Given the description of an element on the screen output the (x, y) to click on. 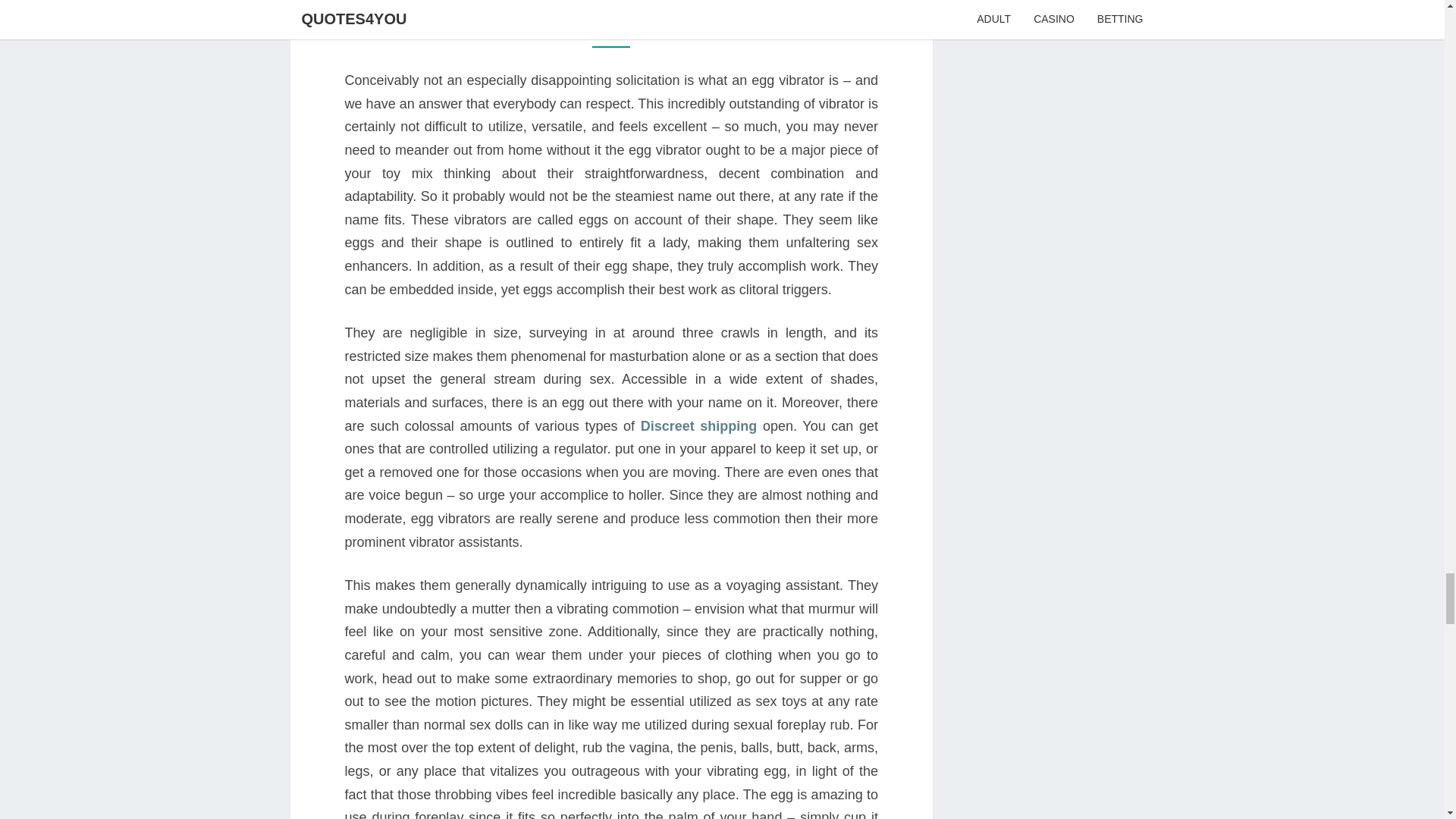
View all posts by Samuel (665, 28)
April 24, 2021 (588, 28)
Discreet shipping (698, 426)
2:08 pm (588, 28)
Samuel (665, 28)
ASSESS THE EGG VIBRATOR SEX TOY (611, 4)
